Given the description of an element on the screen output the (x, y) to click on. 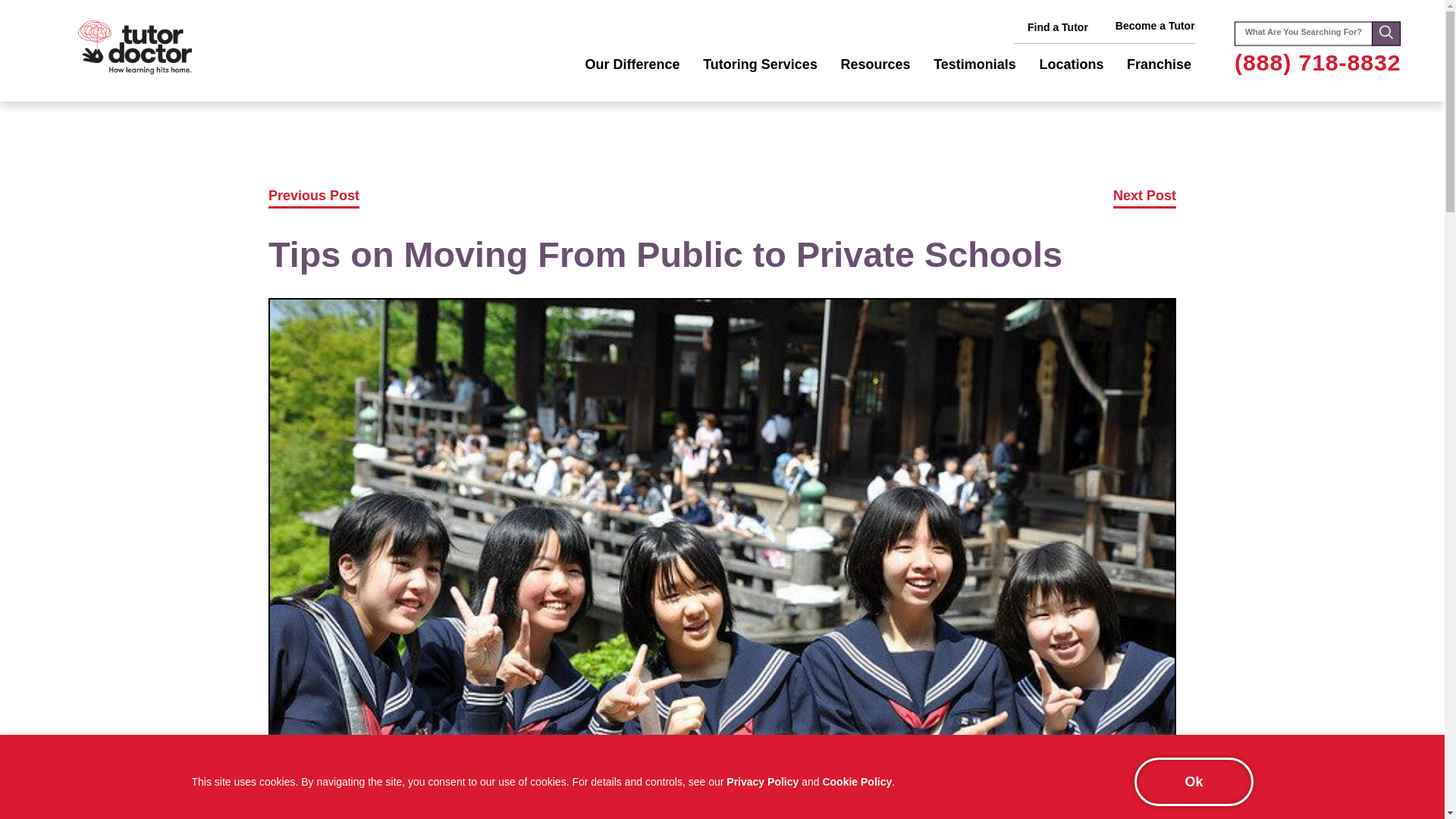
Find a Tutor (1057, 27)
Become a Tutor (1155, 25)
Privacy Policy (761, 781)
Cookie Policy (856, 781)
Our Difference (632, 64)
Ok (1193, 781)
Tutoring Services (759, 64)
